Given the description of an element on the screen output the (x, y) to click on. 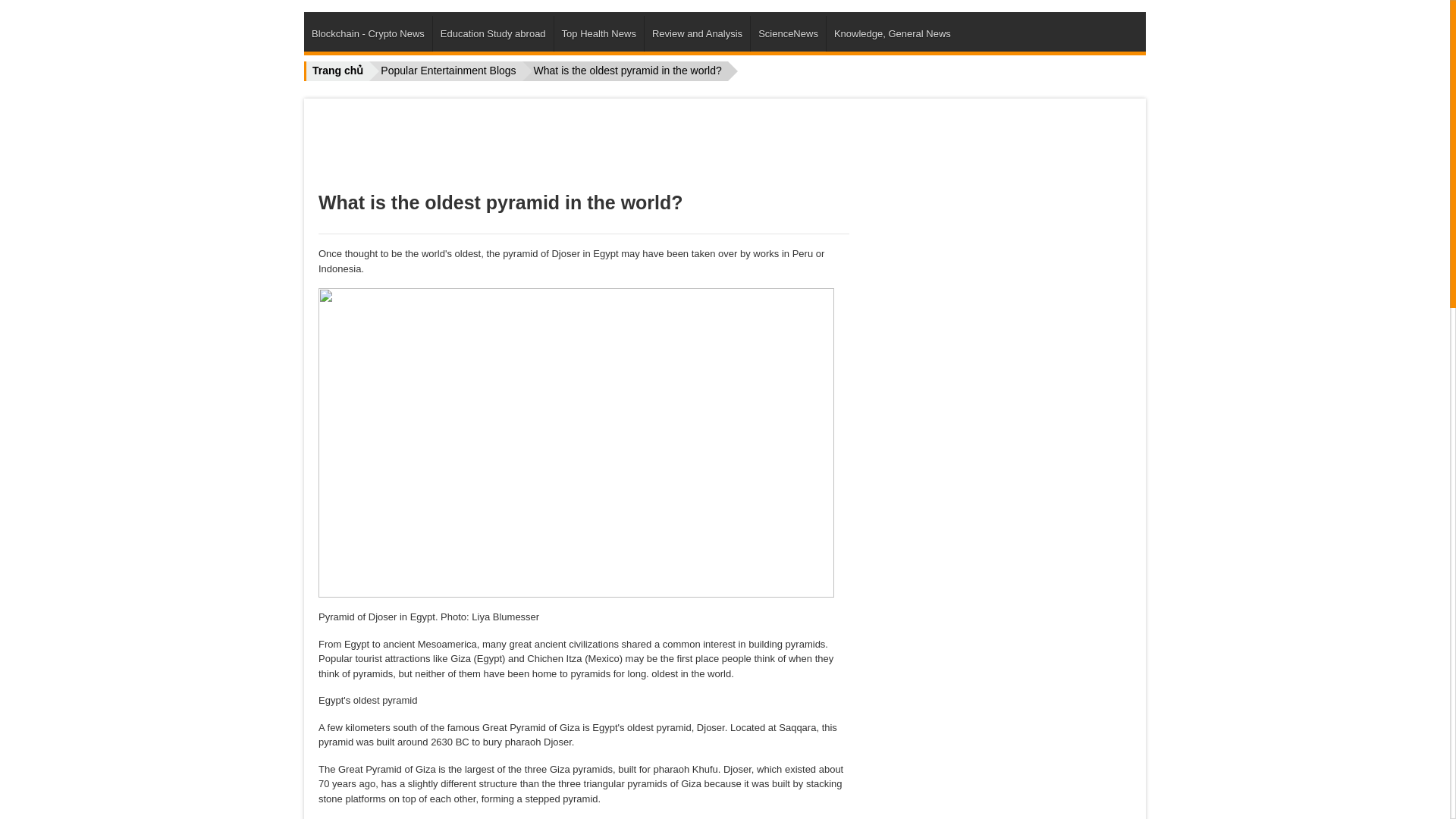
Review and Analysis (697, 33)
Blockchain - Crypto News (368, 33)
What is the oldest pyramid in the world? (625, 71)
Popular Entertainment Blogs (445, 71)
Education Study abroad (492, 33)
ScienceNews (788, 33)
Knowledge, General News (892, 33)
Top Health News (598, 33)
